Given the description of an element on the screen output the (x, y) to click on. 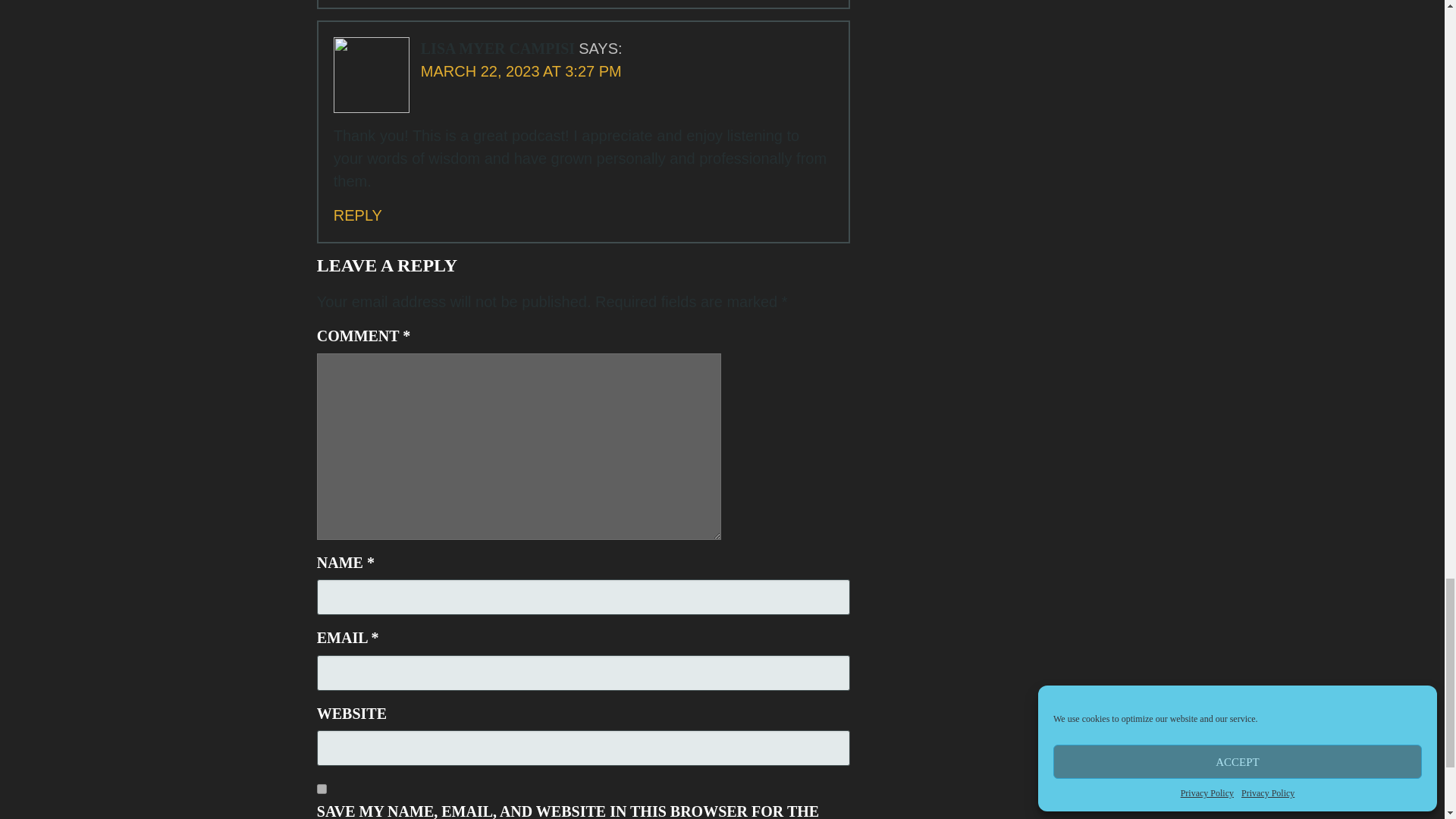
REPLY (357, 215)
MARCH 22, 2023 AT 3:27 PM (520, 71)
yes (321, 788)
